Given the description of an element on the screen output the (x, y) to click on. 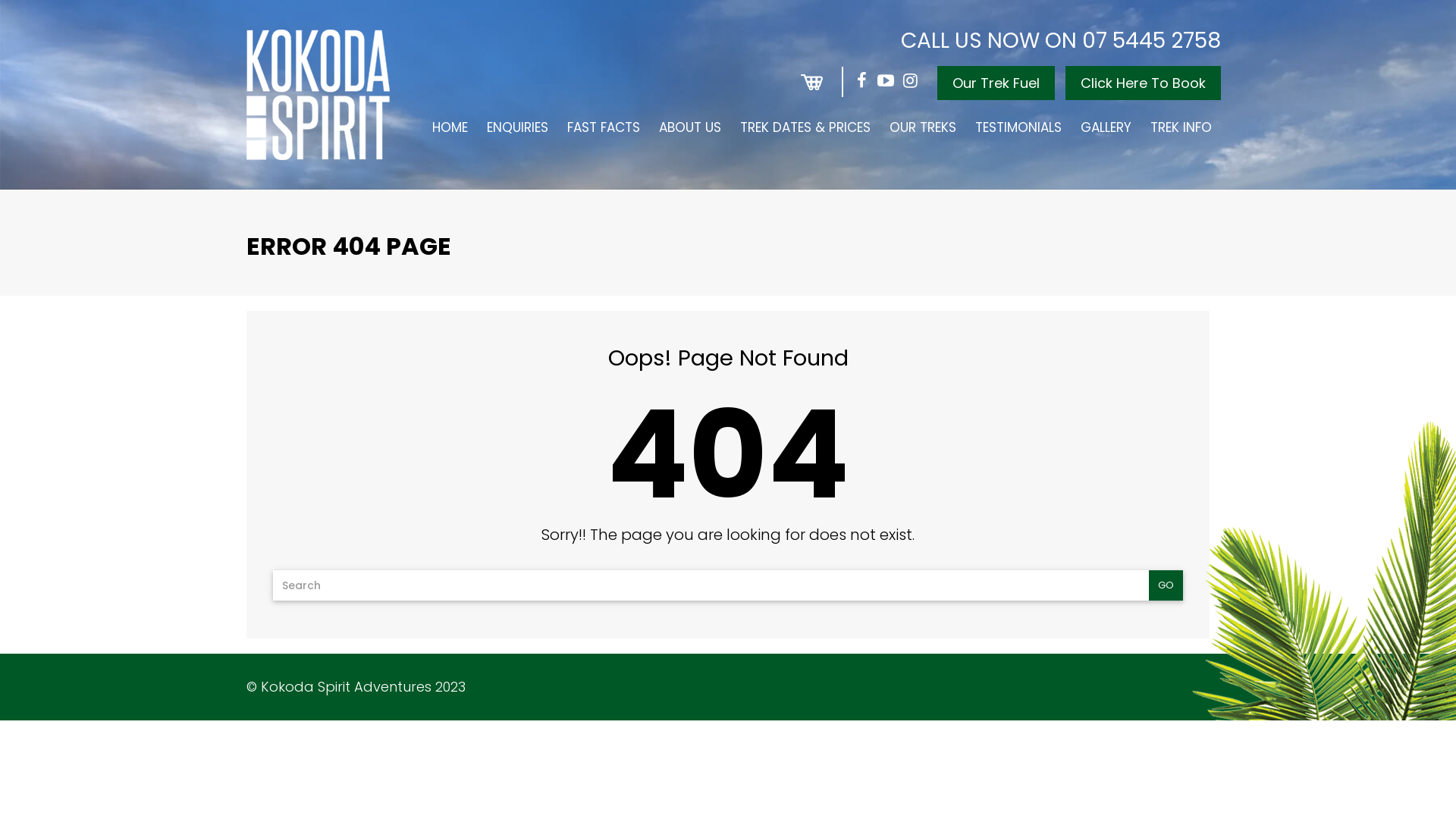
GO Element type: text (1165, 585)
Kokoda Spirit - Explore The Kokoda Trail With Kokoda Spirit Element type: hover (318, 94)
TREK DATES & PRICES Element type: text (804, 127)
HOME Element type: text (449, 127)
GALLERY Element type: text (1105, 127)
FAST FACTS Element type: text (602, 127)
OUR TREKS Element type: text (922, 127)
ABOUT US Element type: text (689, 127)
Our Trek Fuel Element type: text (995, 82)
TESTIMONIALS Element type: text (1017, 127)
ENQUIRIES Element type: text (516, 127)
07 5445 2758 Element type: text (1151, 40)
Click Here To Book Element type: text (1142, 82)
TREK INFO Element type: text (1180, 127)
